Given the description of an element on the screen output the (x, y) to click on. 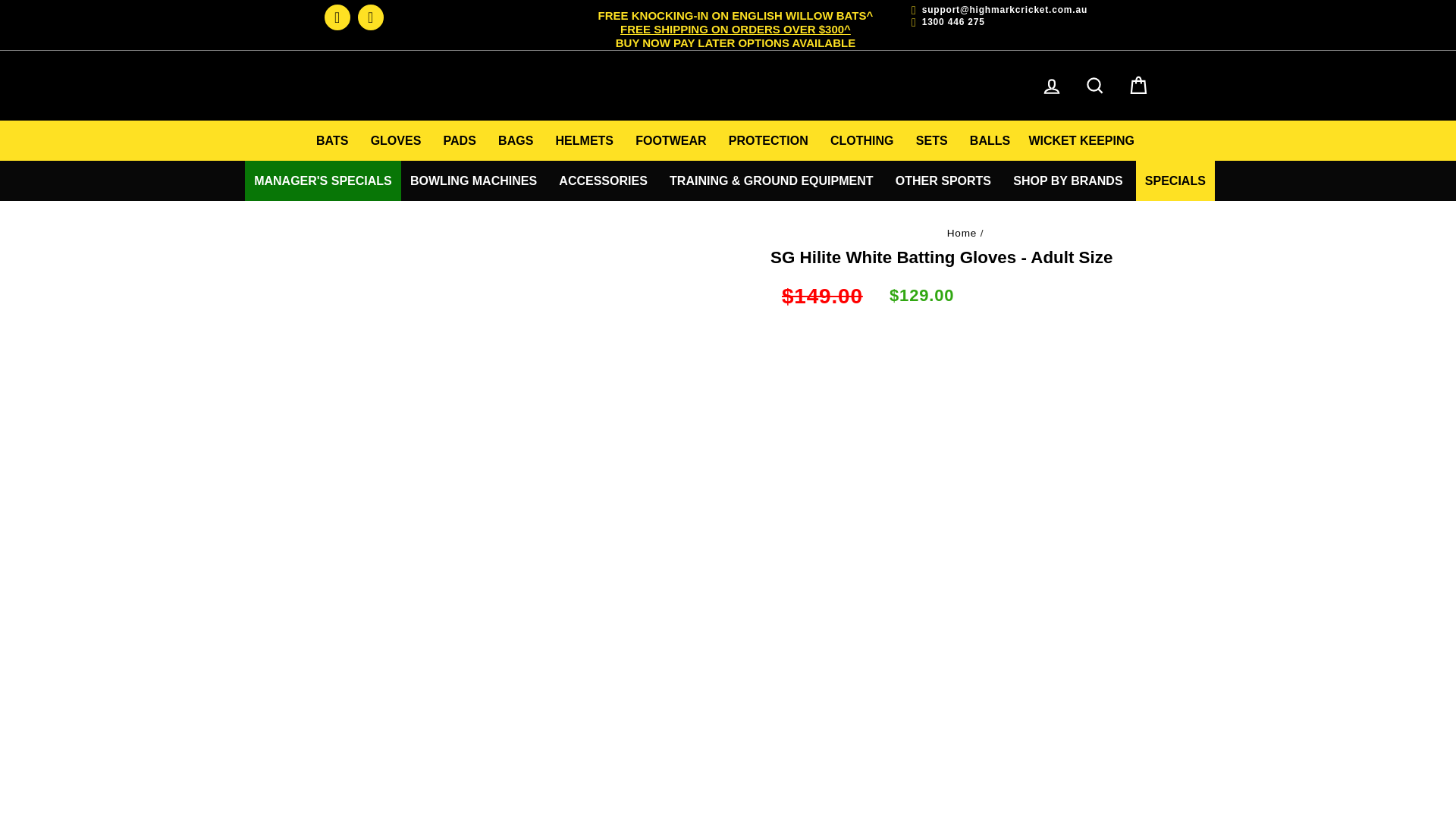
Home (337, 17)
Contact Us (371, 17)
Back to the frontpage (961, 233)
